Given the description of an element on the screen output the (x, y) to click on. 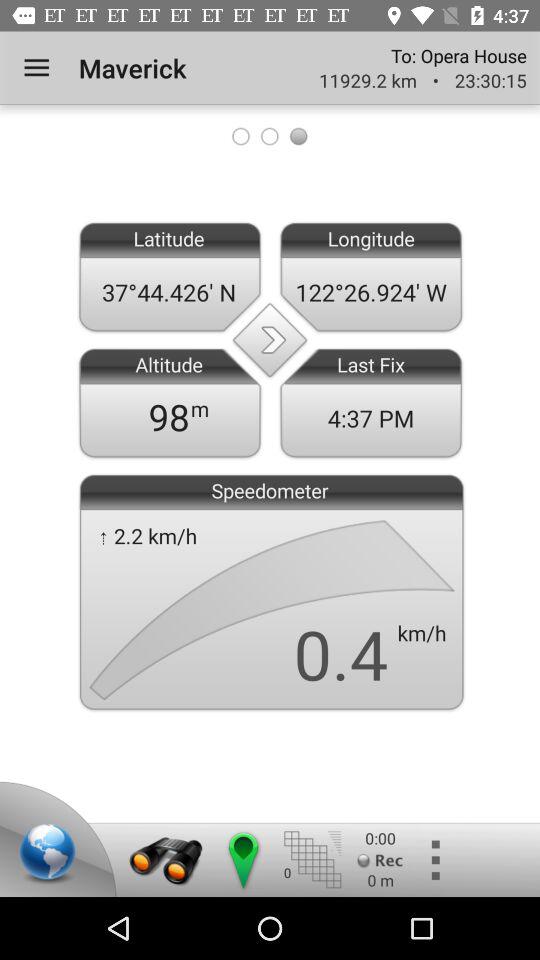
start recording (380, 860)
